Given the description of an element on the screen output the (x, y) to click on. 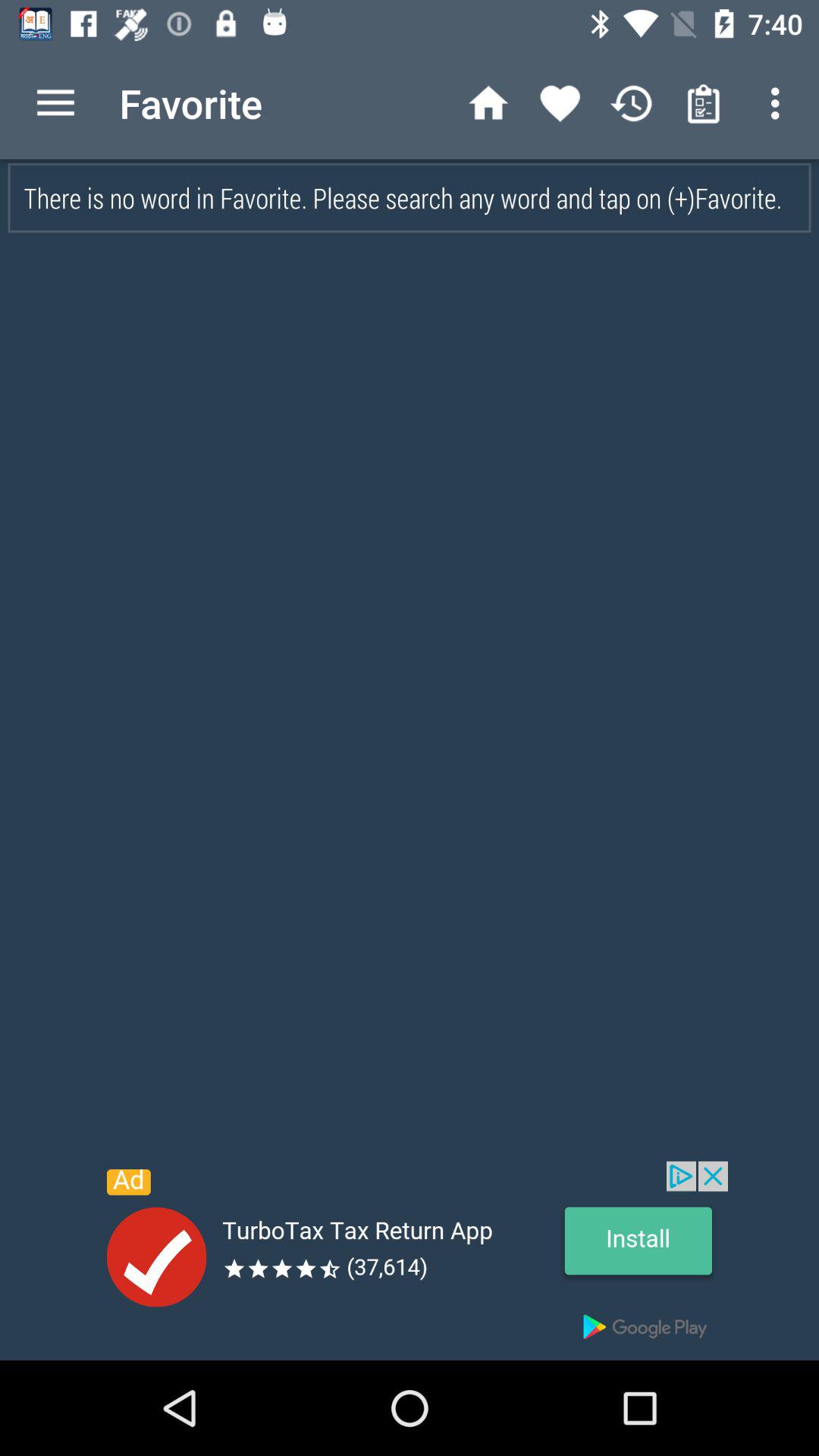
go to advertisement (409, 1260)
